Given the description of an element on the screen output the (x, y) to click on. 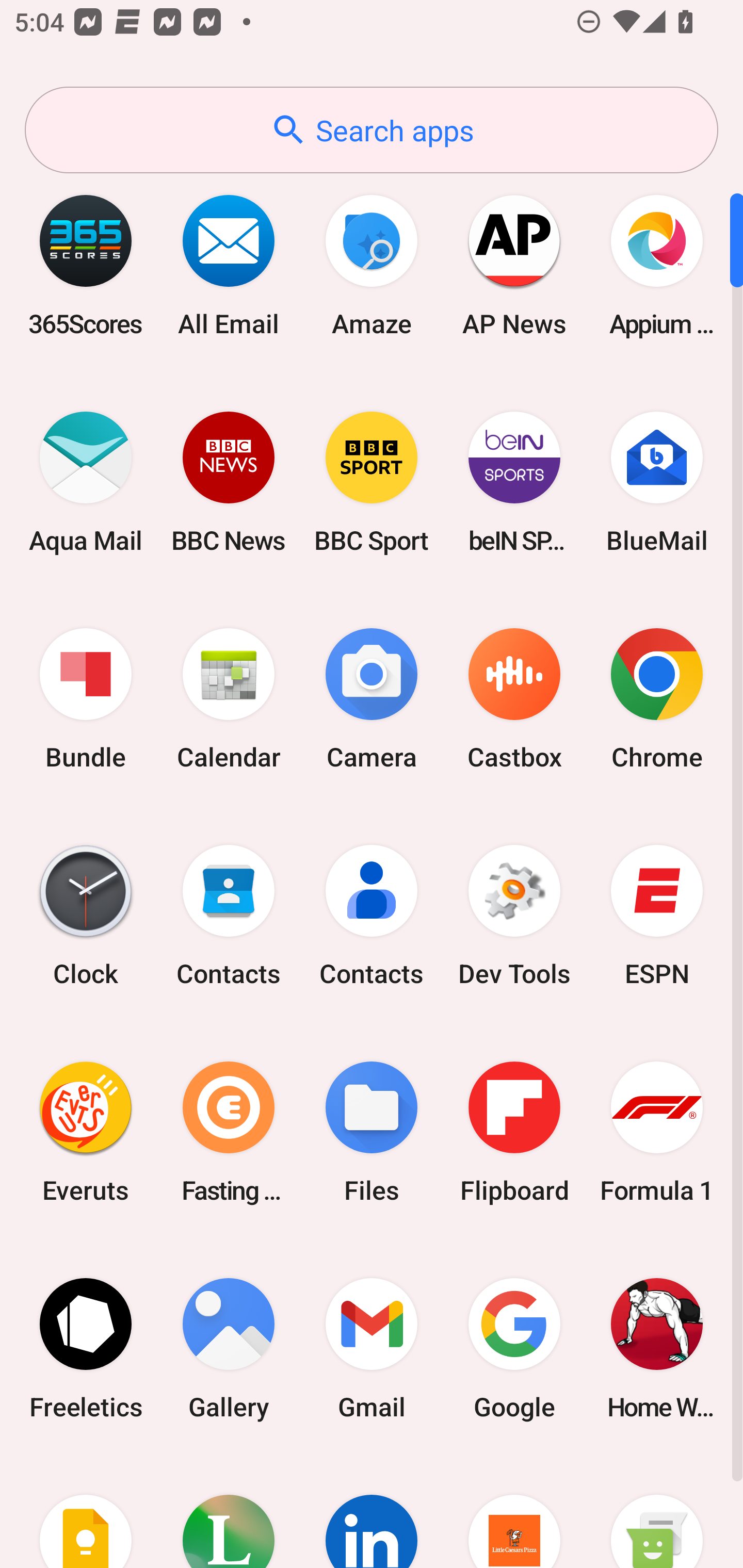
  Search apps (371, 130)
365Scores (85, 264)
All Email (228, 264)
Amaze (371, 264)
AP News (514, 264)
Appium Settings (656, 264)
Aqua Mail (85, 482)
BBC News (228, 482)
BBC Sport (371, 482)
beIN SPORTS (514, 482)
BlueMail (656, 482)
Bundle (85, 699)
Calendar (228, 699)
Camera (371, 699)
Castbox (514, 699)
Chrome (656, 699)
Clock (85, 915)
Contacts (228, 915)
Contacts (371, 915)
Dev Tools (514, 915)
ESPN (656, 915)
Everuts (85, 1131)
Fasting Coach (228, 1131)
Files (371, 1131)
Flipboard (514, 1131)
Formula 1 (656, 1131)
Freeletics (85, 1348)
Gallery (228, 1348)
Gmail (371, 1348)
Google (514, 1348)
Home Workout (656, 1348)
Keep Notes (85, 1512)
Lifesum (228, 1512)
LinkedIn (371, 1512)
Little Caesars Pizza (514, 1512)
Messaging (656, 1512)
